Given the description of an element on the screen output the (x, y) to click on. 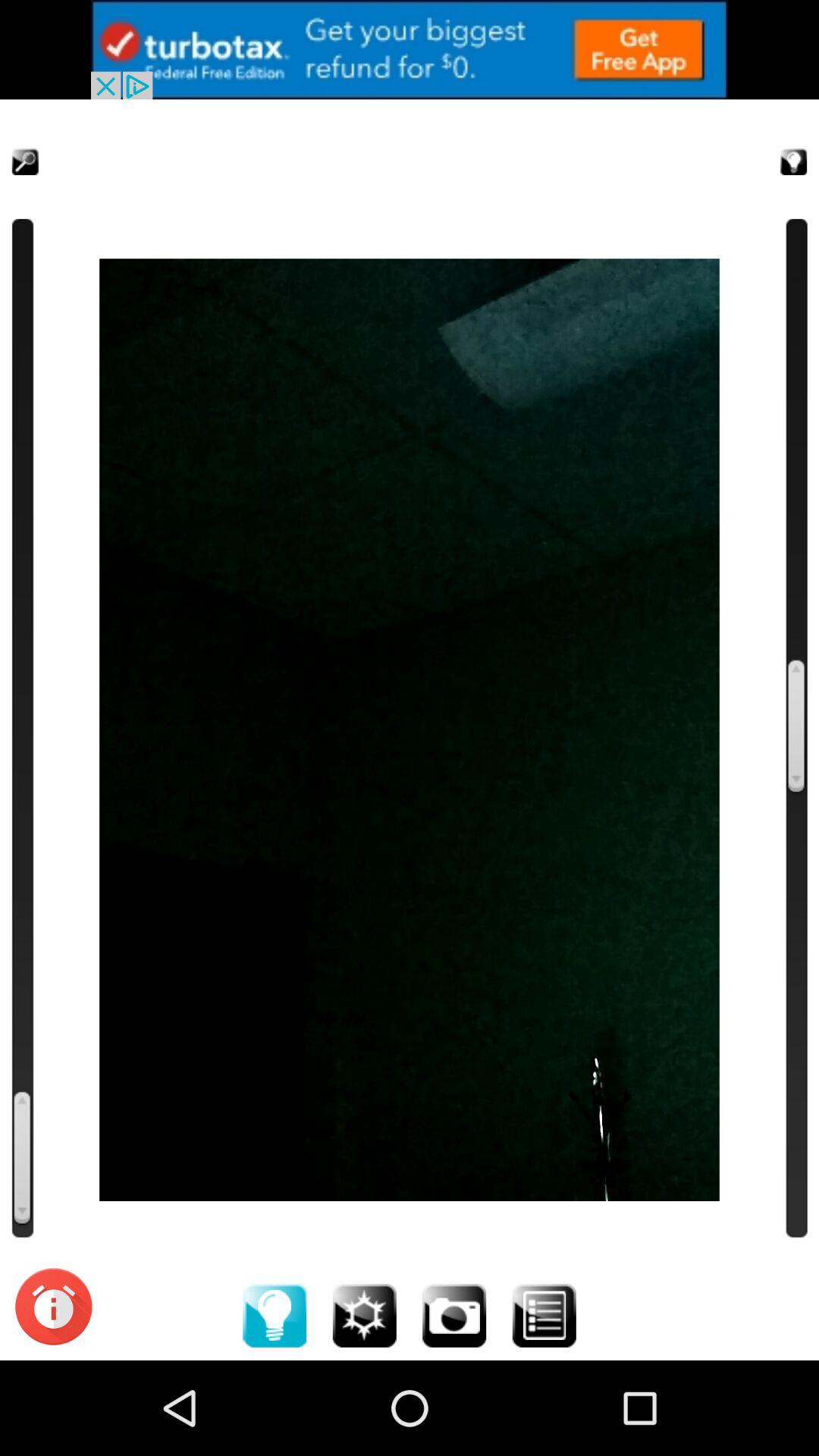
clickable advertisement (409, 49)
